Given the description of an element on the screen output the (x, y) to click on. 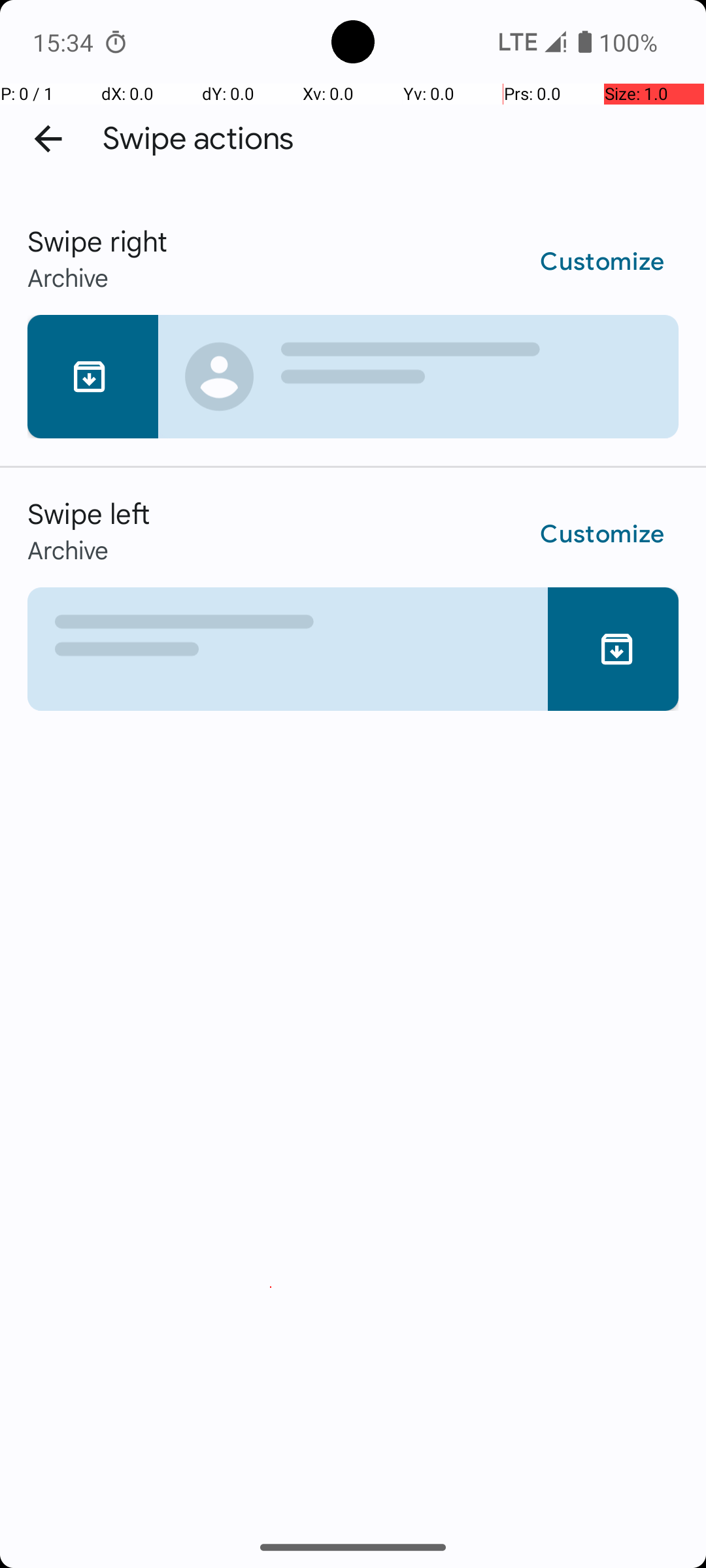
Swipe actions Element type: android.widget.TextView (198, 138)
Swipe right Element type: android.widget.TextView (352, 240)
Archive Element type: android.widget.TextView (352, 277)
Customize Element type: android.widget.Button (602, 261)
Swipe left Element type: android.widget.TextView (352, 512)
